Given the description of an element on the screen output the (x, y) to click on. 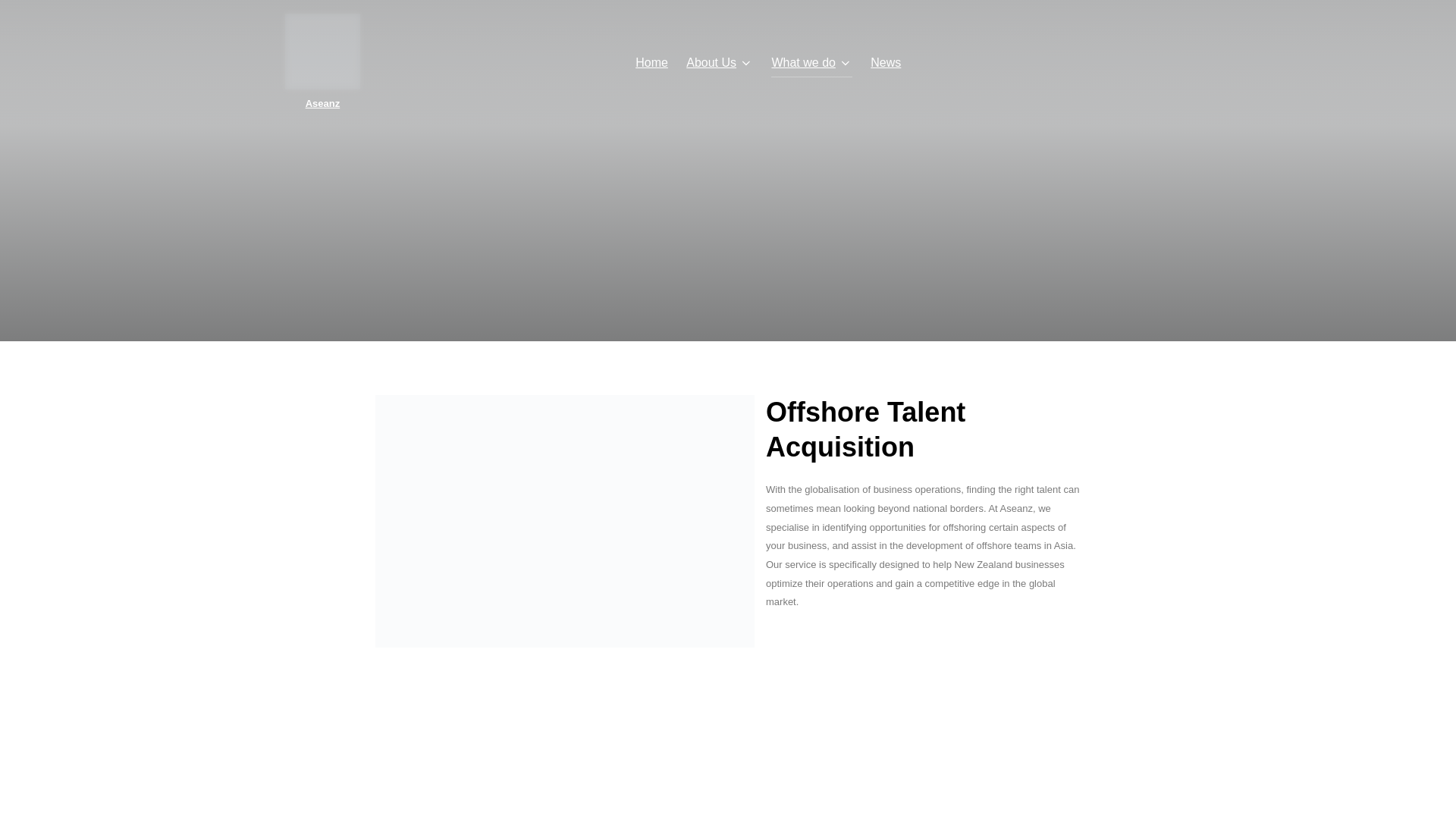
Home (651, 62)
About Us (718, 62)
News (885, 62)
What we do (811, 62)
